Given the description of an element on the screen output the (x, y) to click on. 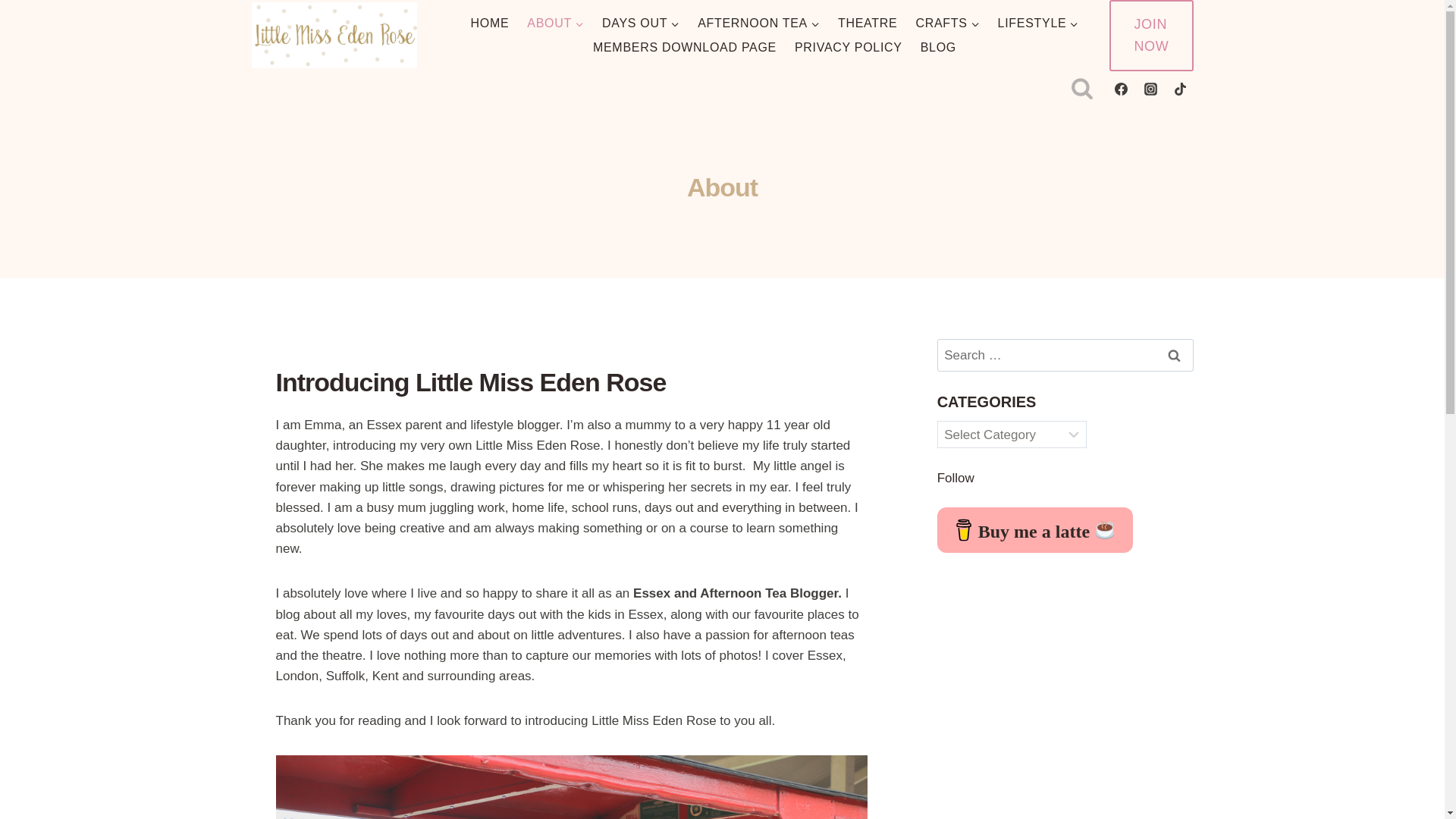
Search (1174, 355)
HOME (489, 23)
BLOG (938, 47)
Search (1174, 355)
THEATRE (866, 23)
LIFESTYLE (1037, 23)
MEMBERS DOWNLOAD PAGE (684, 47)
ABOUT (555, 23)
CRAFTS (946, 23)
AFTERNOON TEA (758, 23)
DAYS OUT (640, 23)
PRIVACY POLICY (848, 47)
